Given the description of an element on the screen output the (x, y) to click on. 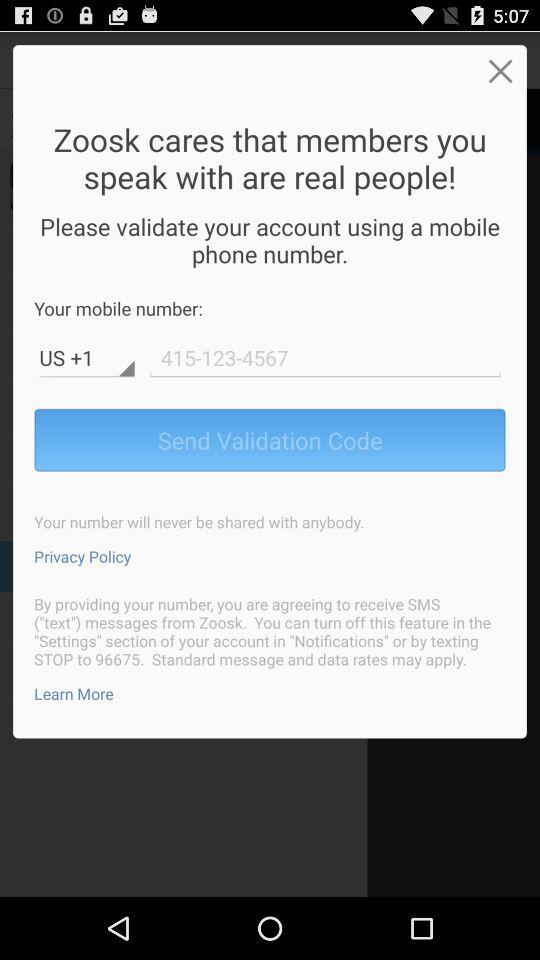
click on the blue button of the page (269, 440)
click on the blue color text below blue color button (82, 555)
click on the blue colored box that reads send validation code (269, 440)
click on the country code text field below your mobile number (86, 358)
